Given the description of an element on the screen output the (x, y) to click on. 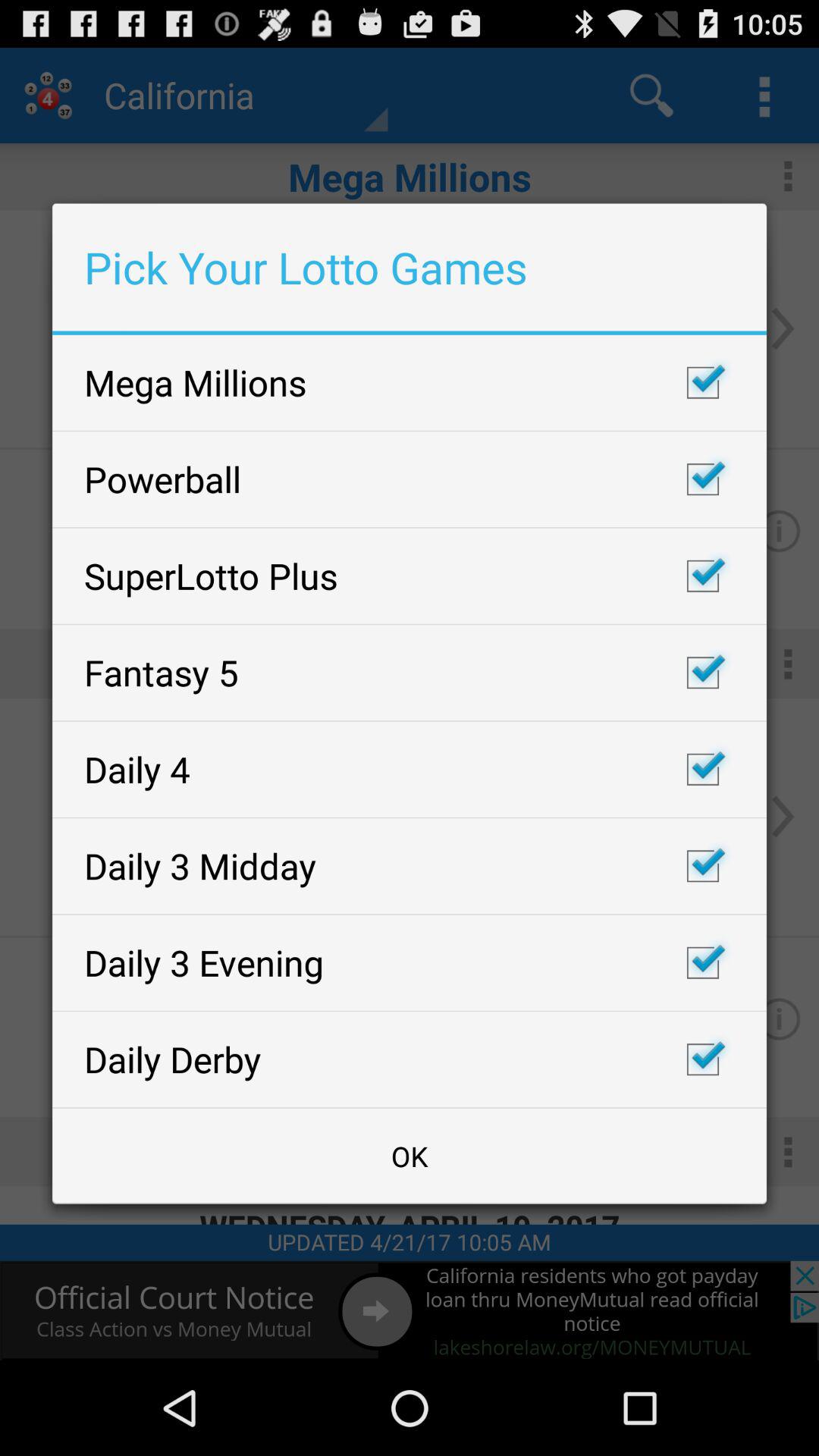
tap the ok icon (409, 1156)
